Given the description of an element on the screen output the (x, y) to click on. 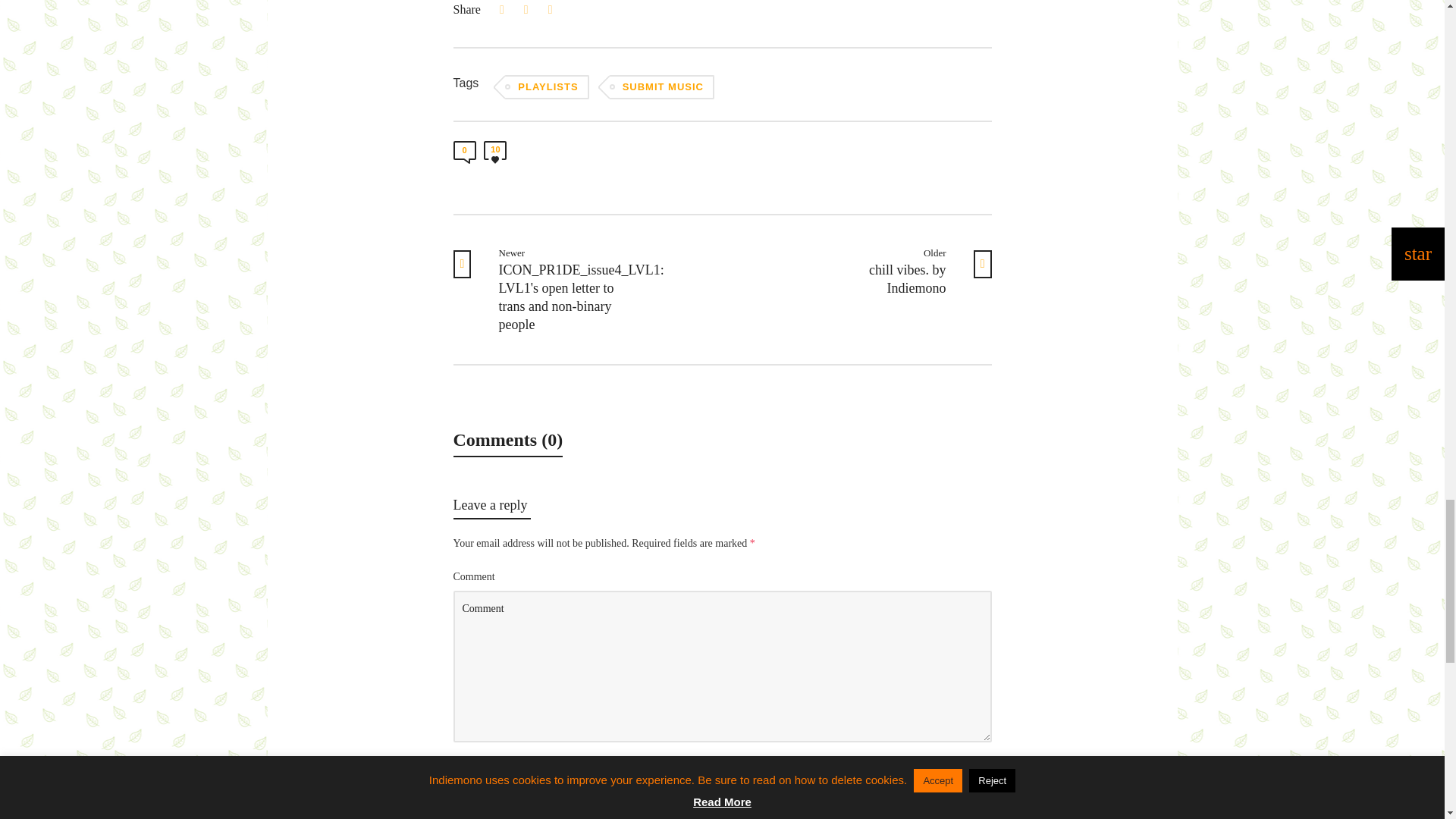
PLAYLISTS (545, 87)
SUBMIT MUSIC (661, 87)
